Given the description of an element on the screen output the (x, y) to click on. 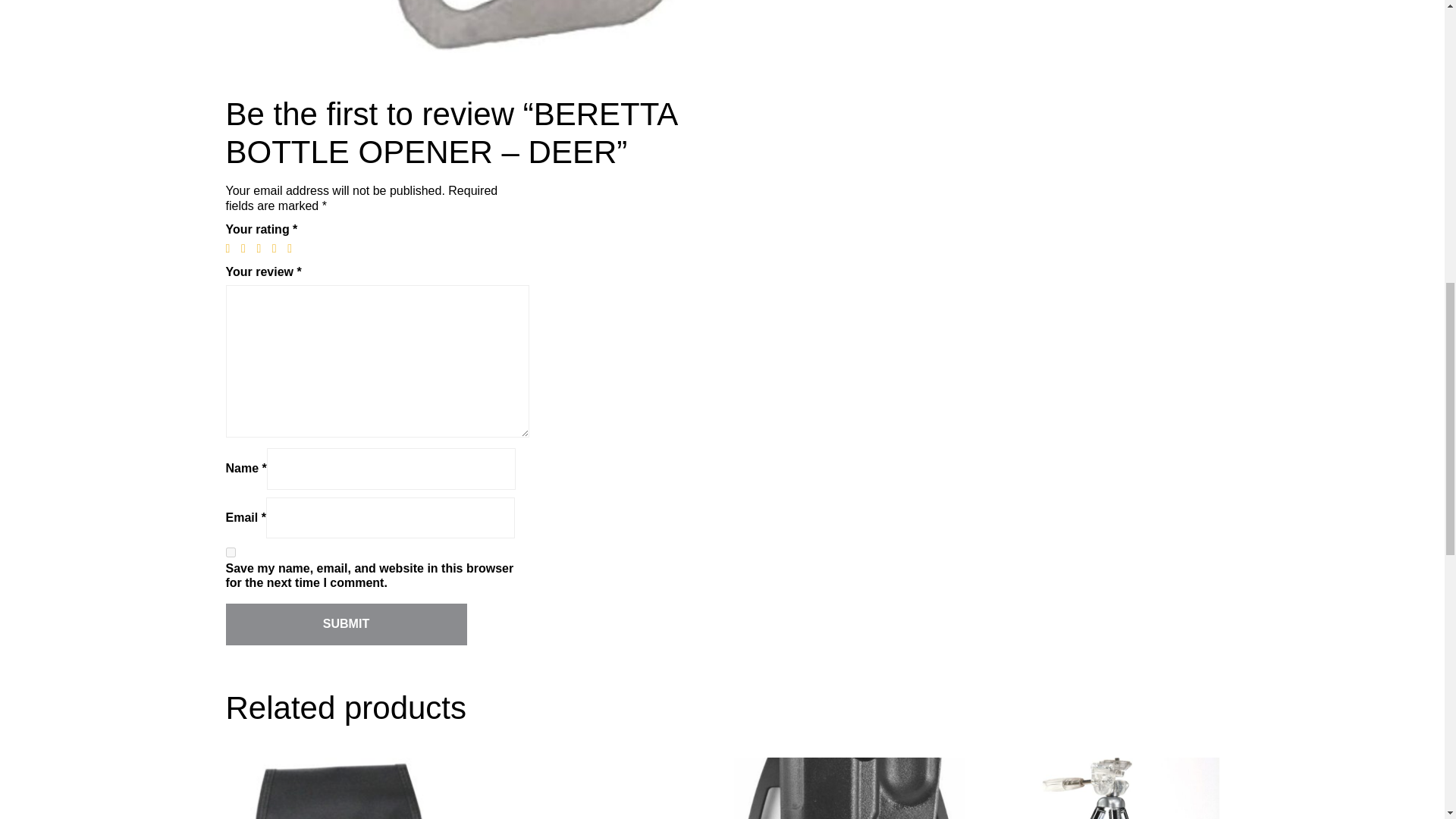
yes (230, 552)
Submit (346, 624)
